Given the description of an element on the screen output the (x, y) to click on. 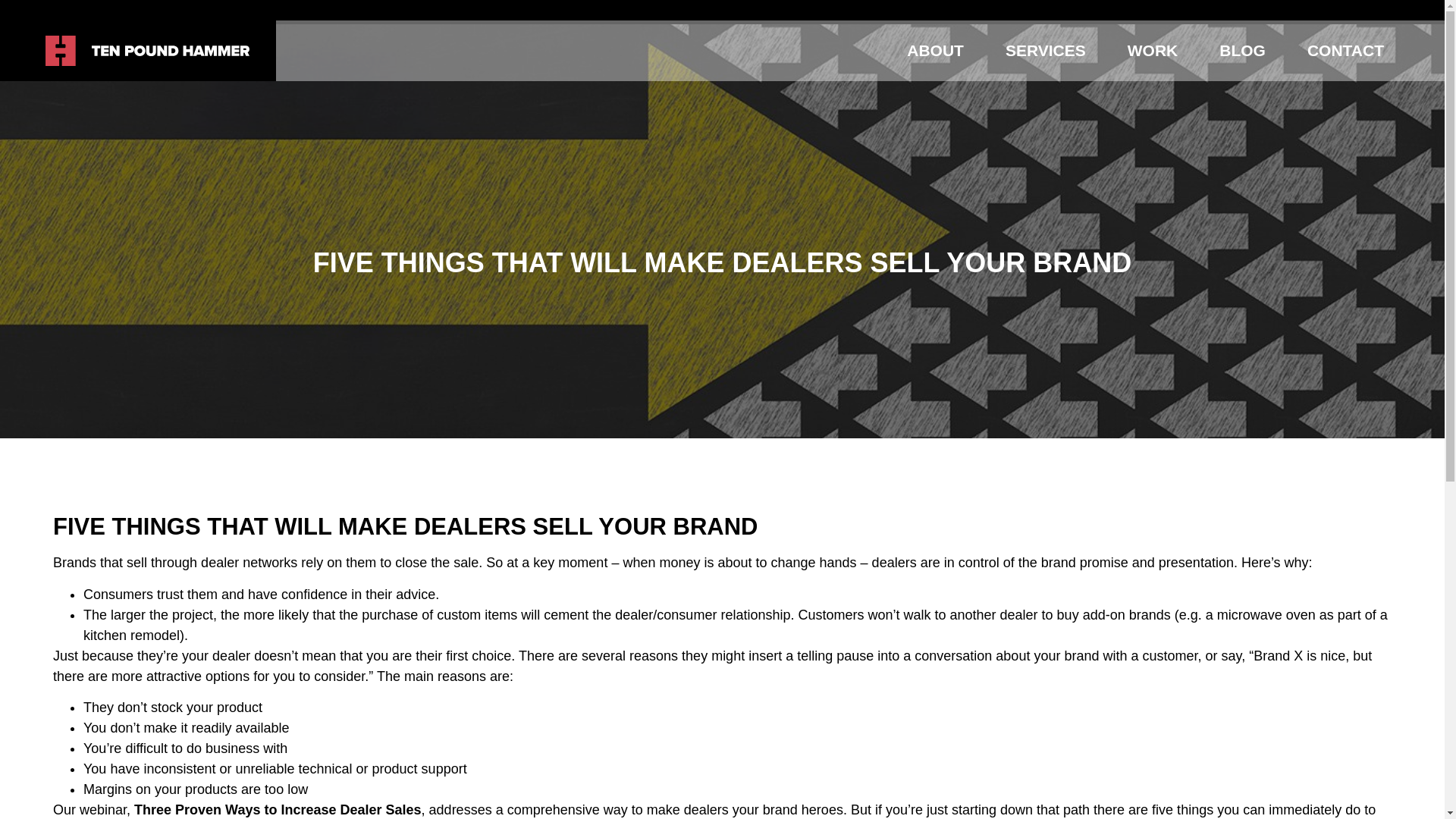
Three Proven Ways to Increase Dealer Sales (277, 809)
WORK (1152, 50)
CONTACT (1345, 50)
BLOG (1242, 50)
SERVICES (1045, 50)
ABOUT (934, 50)
